Given the description of an element on the screen output the (x, y) to click on. 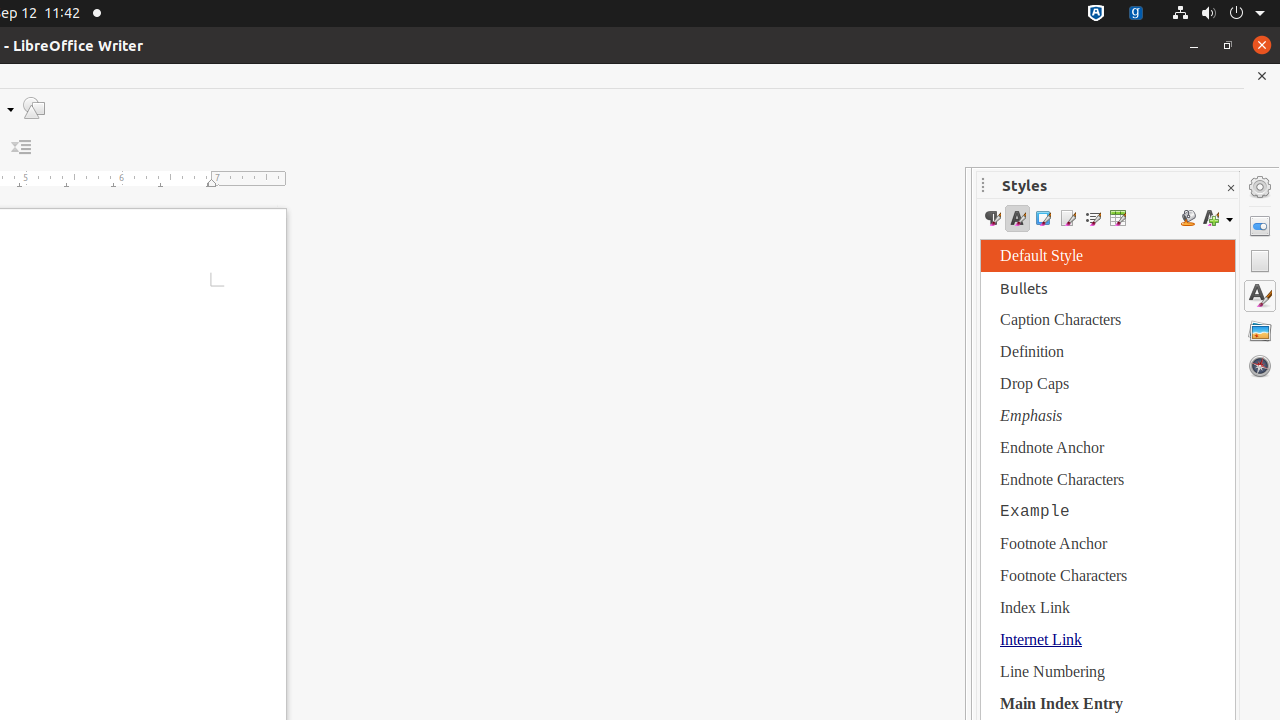
Decrease Element type: push-button (21, 147)
Paragraph Styles Element type: push-button (992, 218)
Styles Element type: radio-button (1260, 296)
Gallery Element type: radio-button (1260, 331)
System Element type: menu (1218, 13)
